Given the description of an element on the screen output the (x, y) to click on. 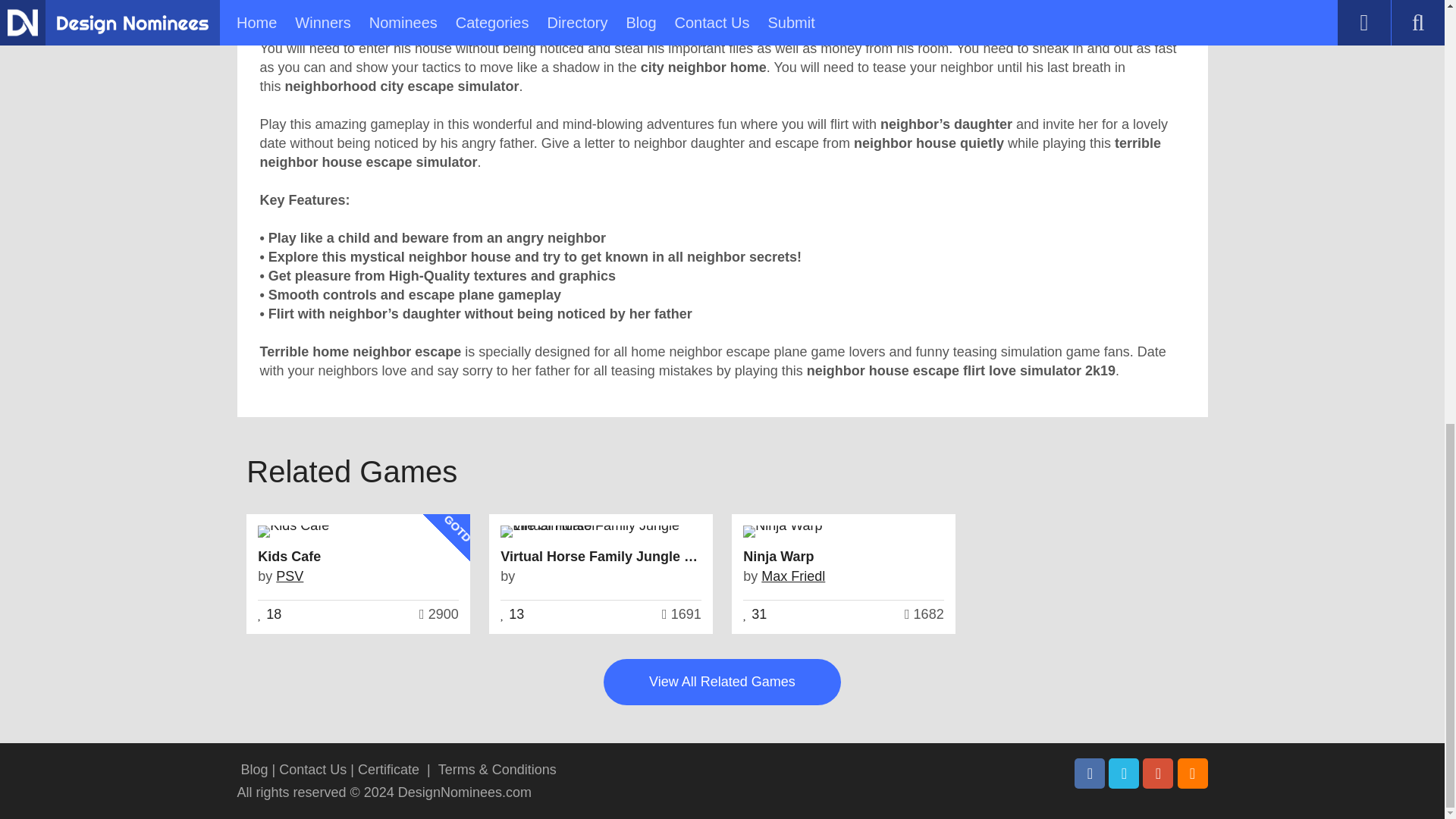
Facebook (1089, 773)
Rss (1191, 773)
Pinterest (1157, 773)
Twitter (1123, 773)
